Given the description of an element on the screen output the (x, y) to click on. 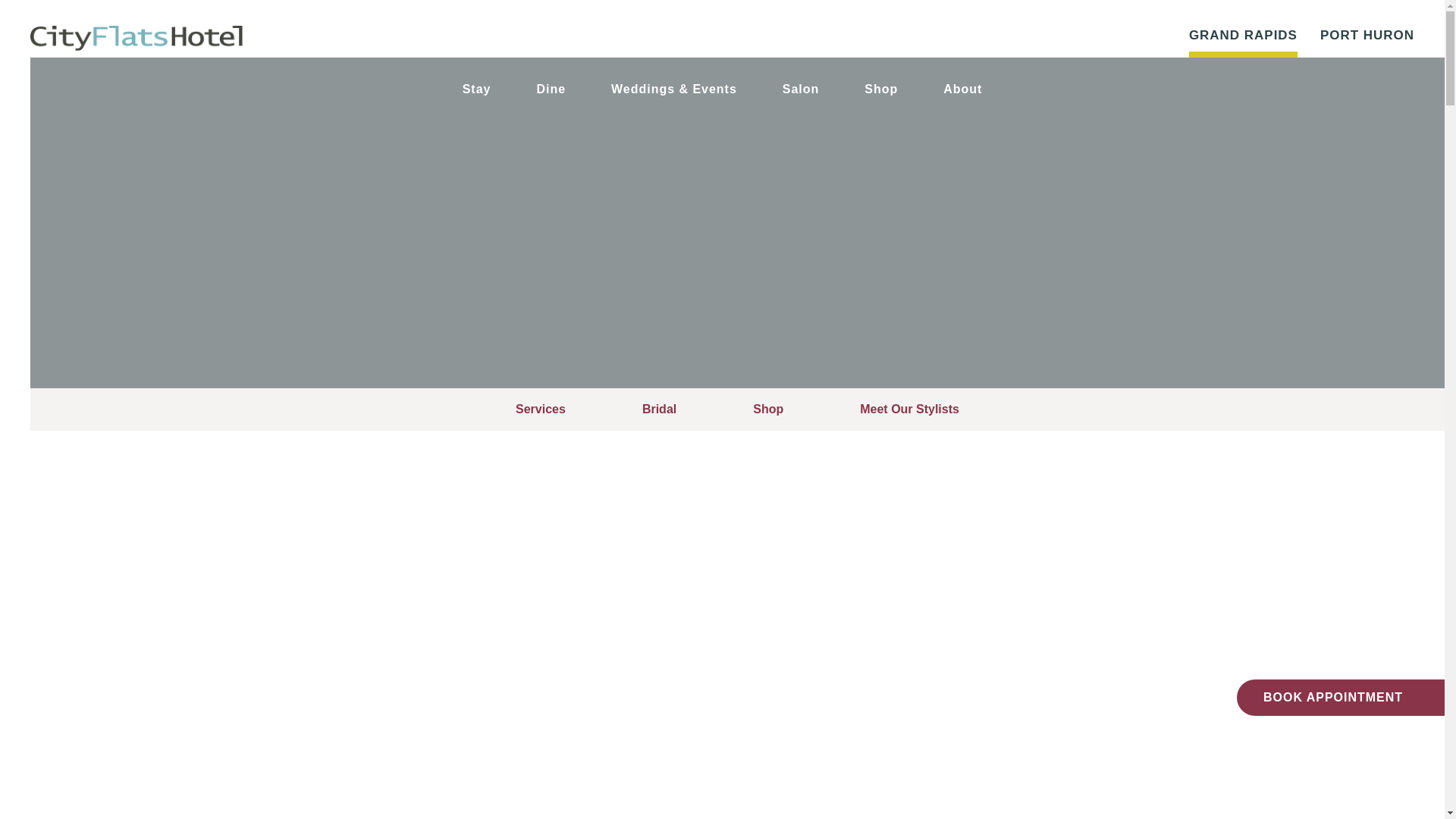
Stay (477, 89)
Salon (800, 89)
Dine (550, 89)
Bridal (659, 409)
CityFlatsHotel (136, 37)
Meet Our Stylists (909, 409)
Services (540, 409)
GRAND RAPIDS (1243, 38)
Shop (881, 89)
Shop (767, 409)
PORT HURON (1366, 38)
About (962, 89)
